Given the description of an element on the screen output the (x, y) to click on. 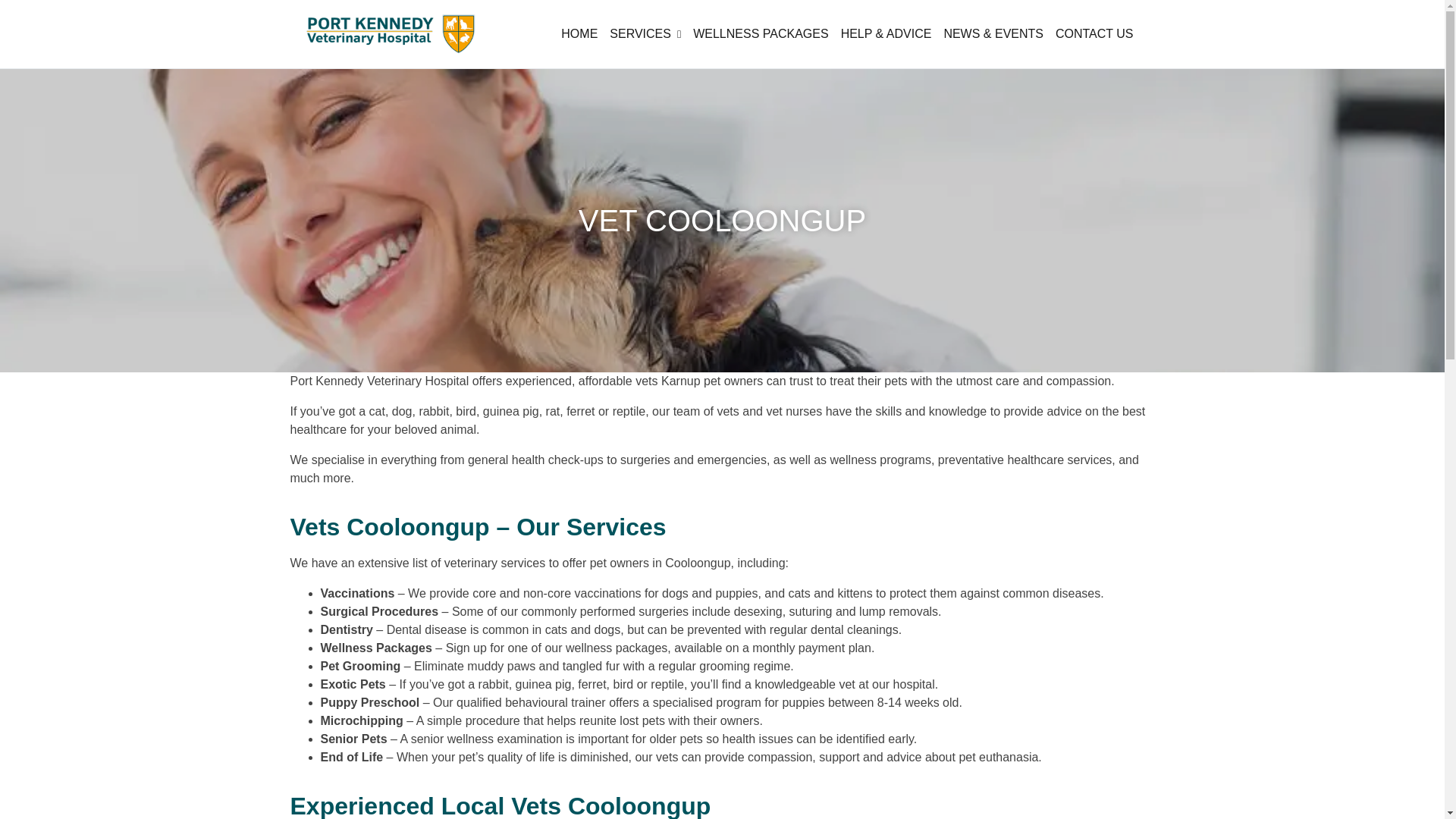
HOME (579, 33)
WELLNESS PACKAGES (760, 33)
CONTACT US (1094, 33)
SERVICES (645, 33)
